Given the description of an element on the screen output the (x, y) to click on. 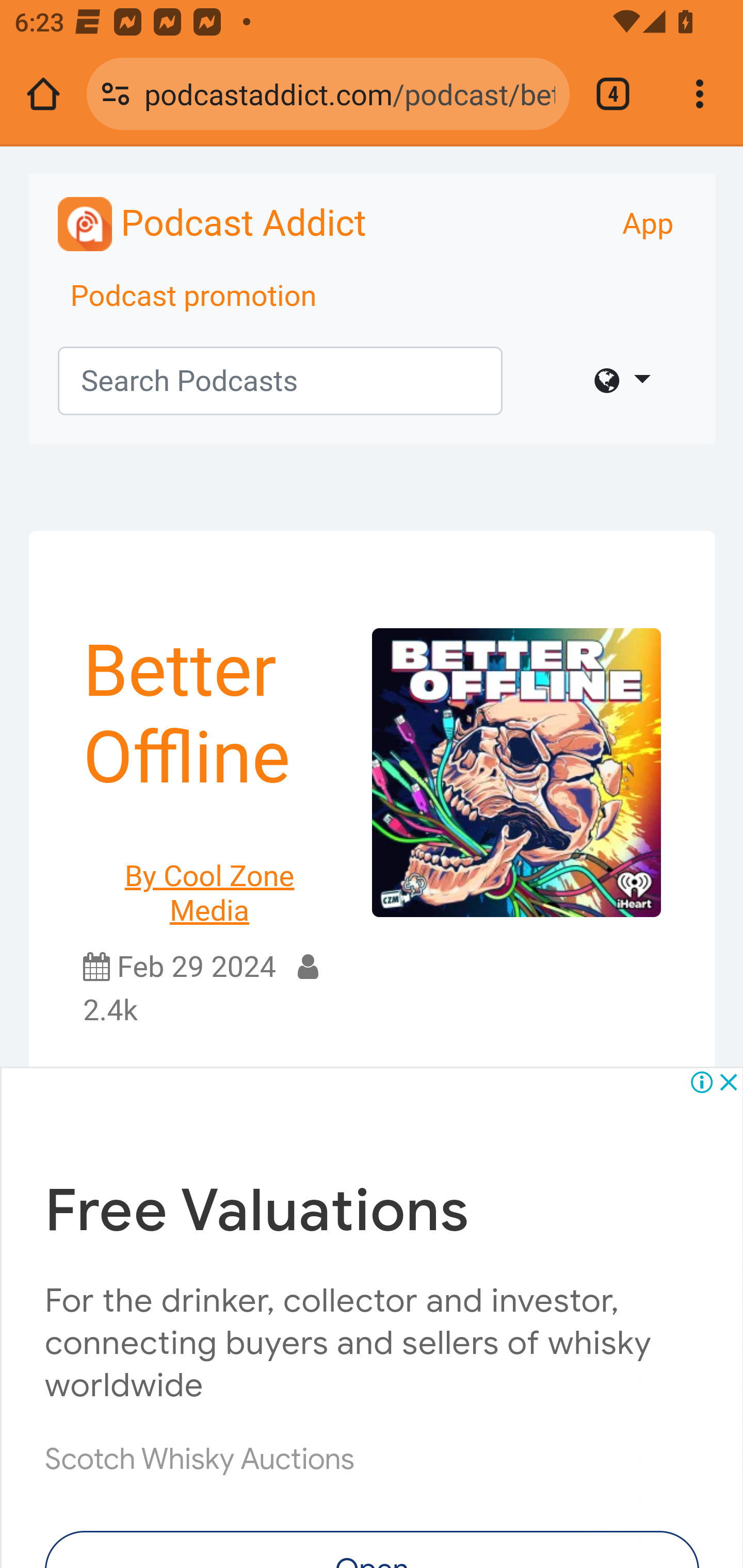
Open the home page (43, 93)
Connection is secure (115, 93)
Switch or close tabs (612, 93)
Customize and control Google Chrome (699, 93)
podcastaddict.com/podcast/better-offline/4855593 (349, 92)
App (648, 224)
Podcast promotion (193, 296)
 (622, 380)
By Cool Zone Media (210, 879)
